Given the description of an element on the screen output the (x, y) to click on. 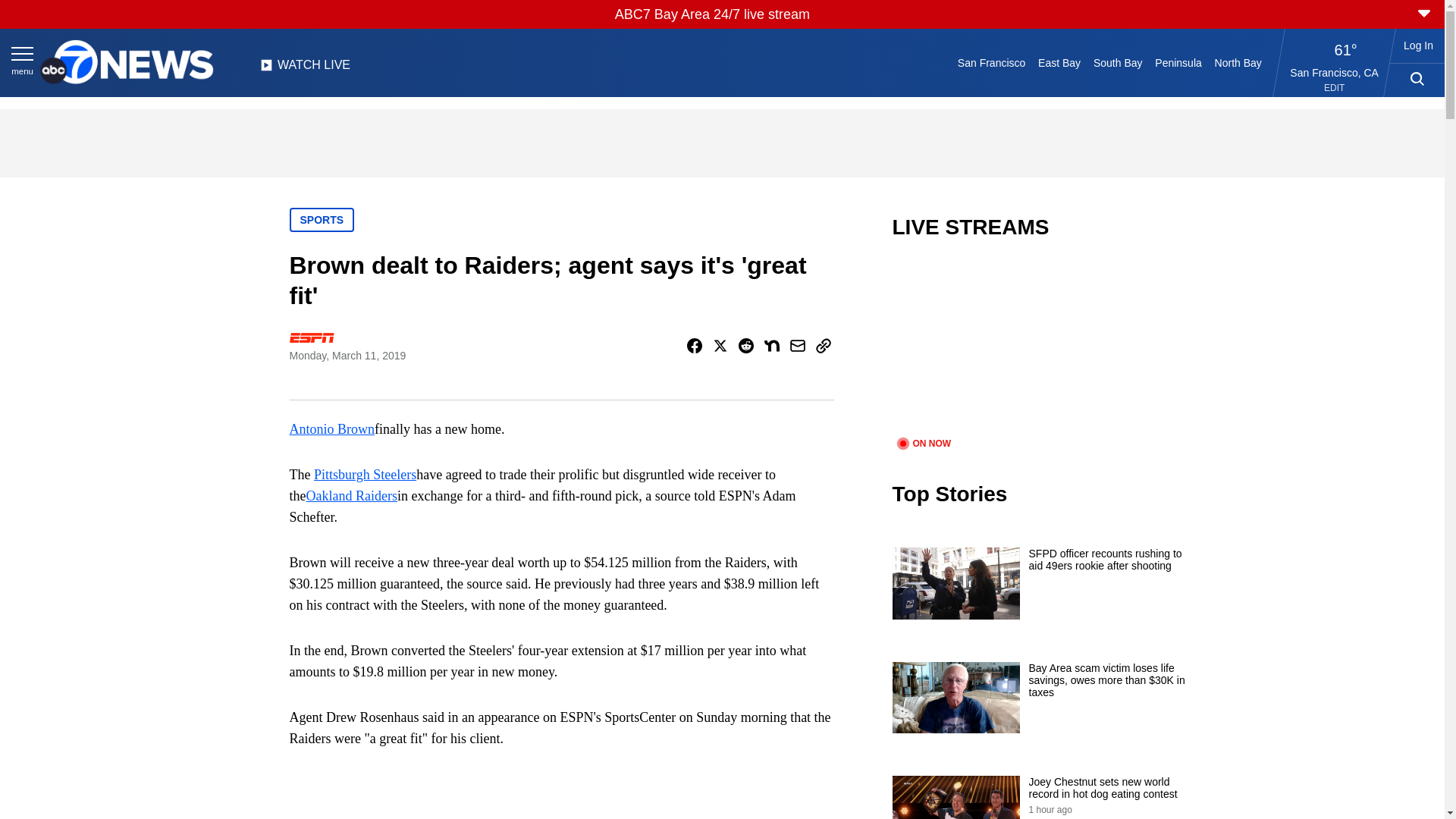
North Bay (1238, 62)
San Francisco, CA (1334, 72)
Peninsula (1178, 62)
EDIT (1333, 87)
South Bay (1117, 62)
East Bay (1059, 62)
WATCH LIVE (305, 69)
San Francisco (990, 62)
video.title (1043, 347)
